Given the description of an element on the screen output the (x, y) to click on. 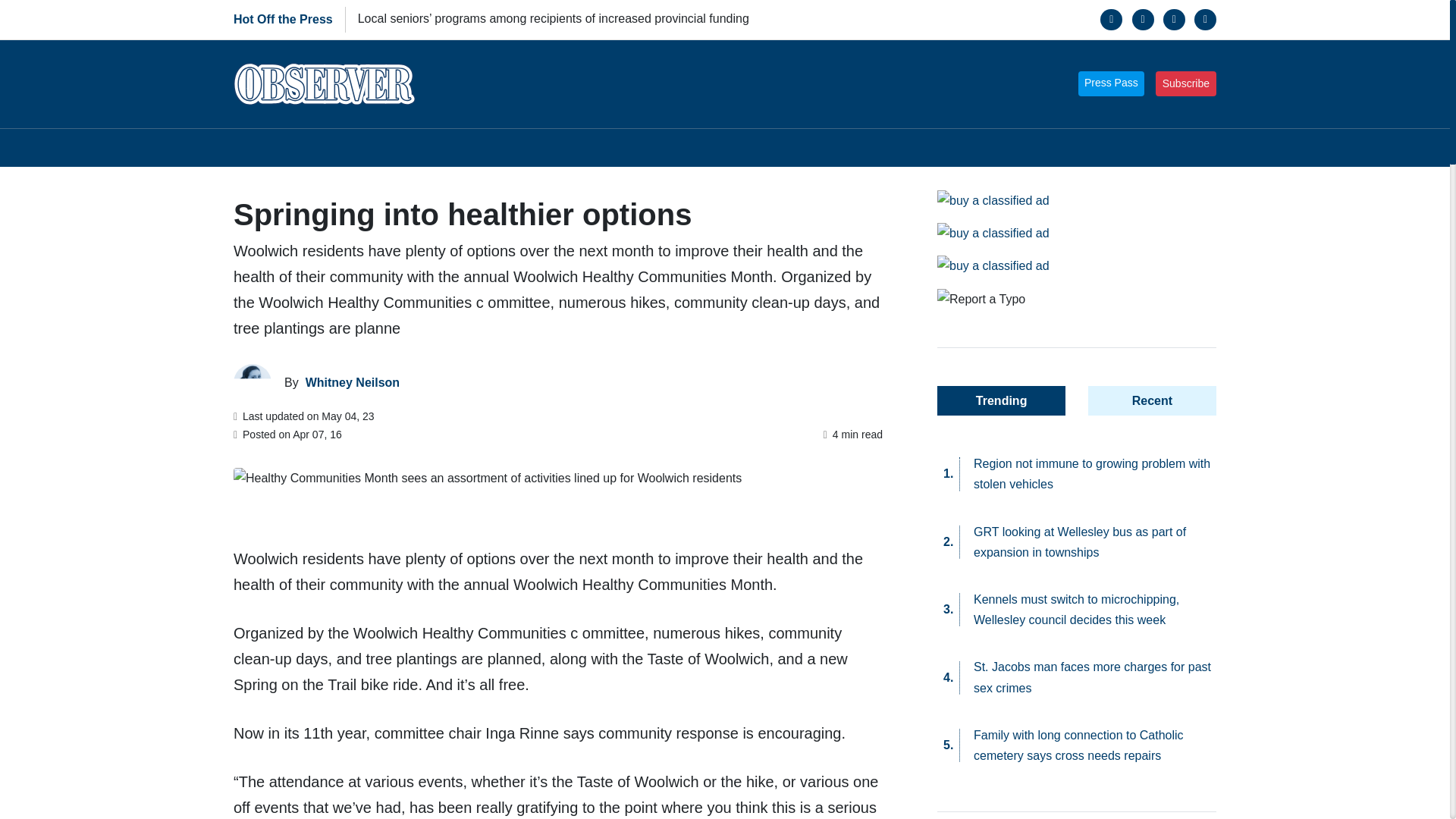
Subscribe (1185, 84)
Press Pass (1111, 84)
